Given the description of an element on the screen output the (x, y) to click on. 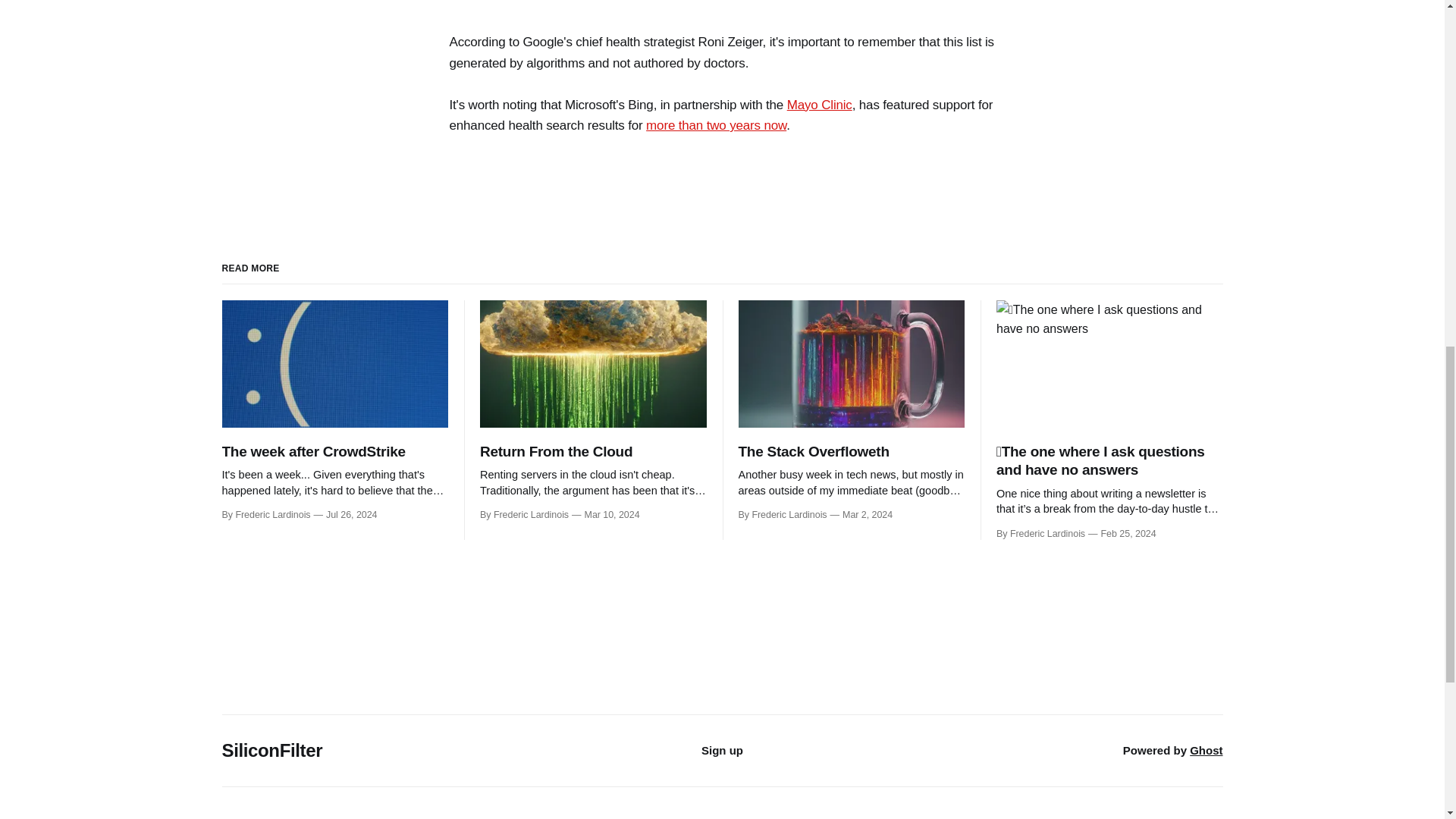
more than two years now (716, 124)
Mayo Clinic (819, 104)
Ghost (1206, 749)
Sign up (721, 749)
Mayo Clinic (819, 104)
